Given the description of an element on the screen output the (x, y) to click on. 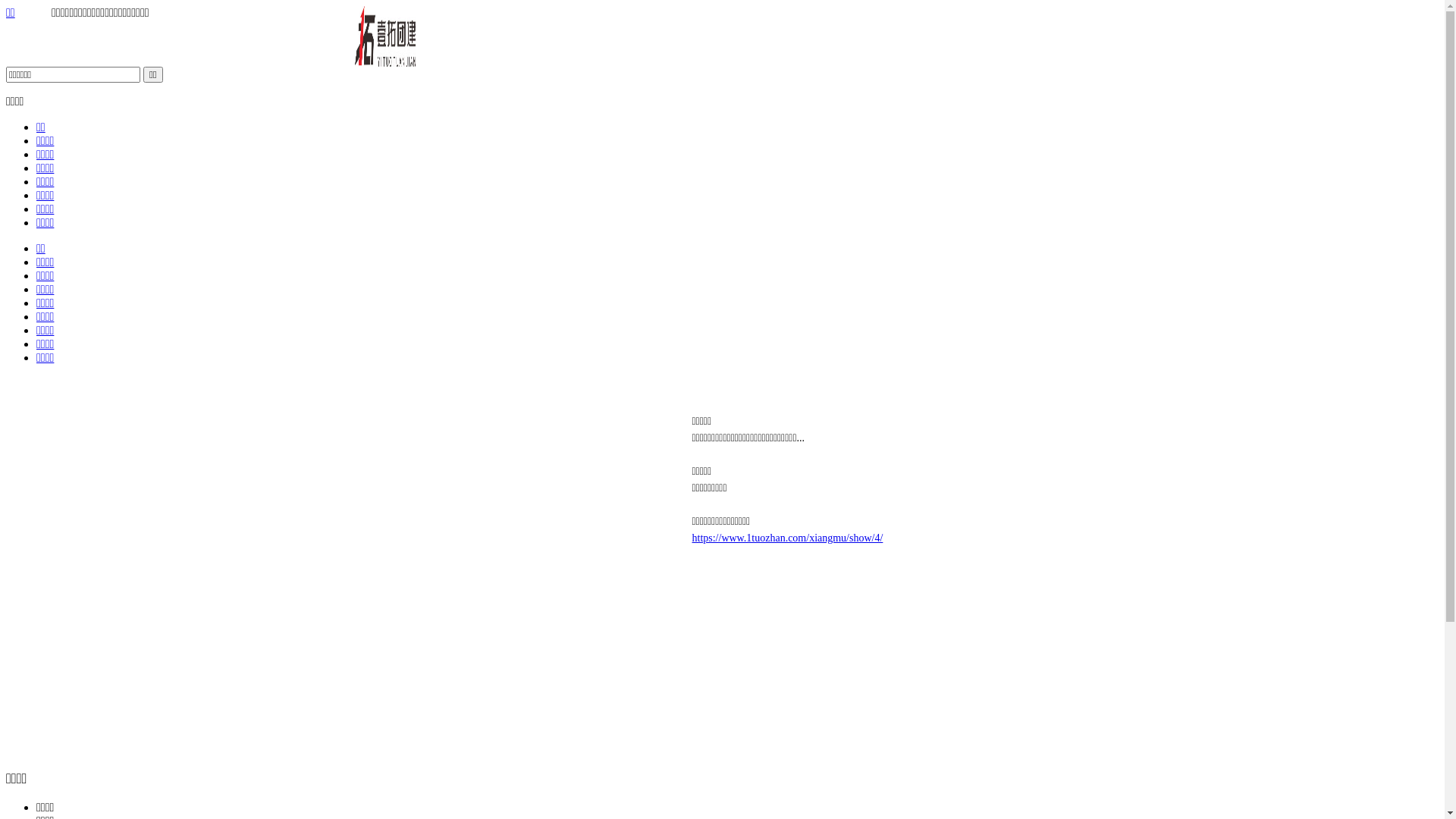
https://www.1tuozhan.com/xiangmu/show/4/ Element type: text (786, 537)
